Given the description of an element on the screen output the (x, y) to click on. 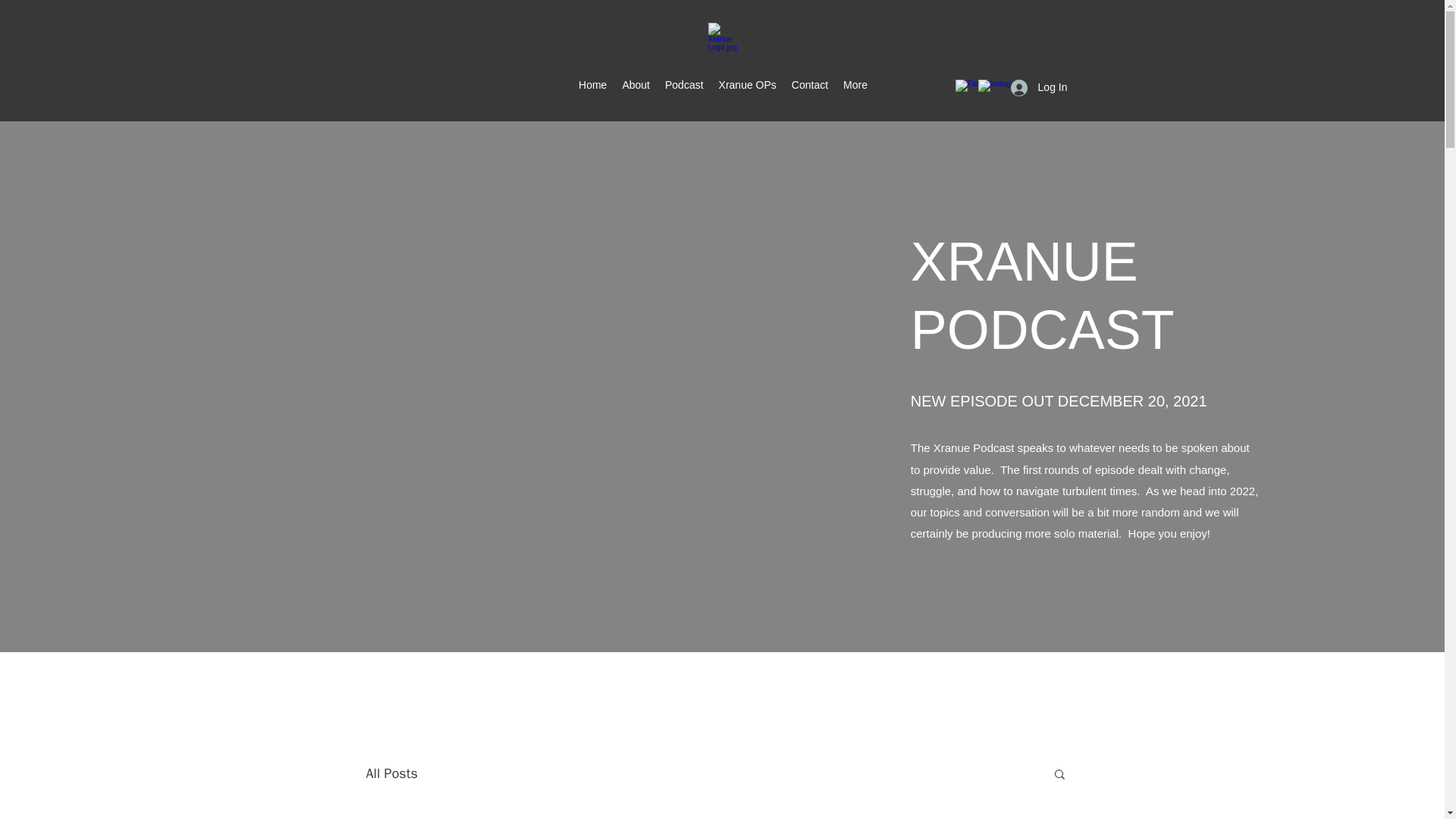
Xranue OPs (747, 87)
Contact (809, 87)
Home (592, 87)
All Posts (390, 773)
Podcast (684, 87)
About (636, 87)
Log In (1039, 87)
